Given the description of an element on the screen output the (x, y) to click on. 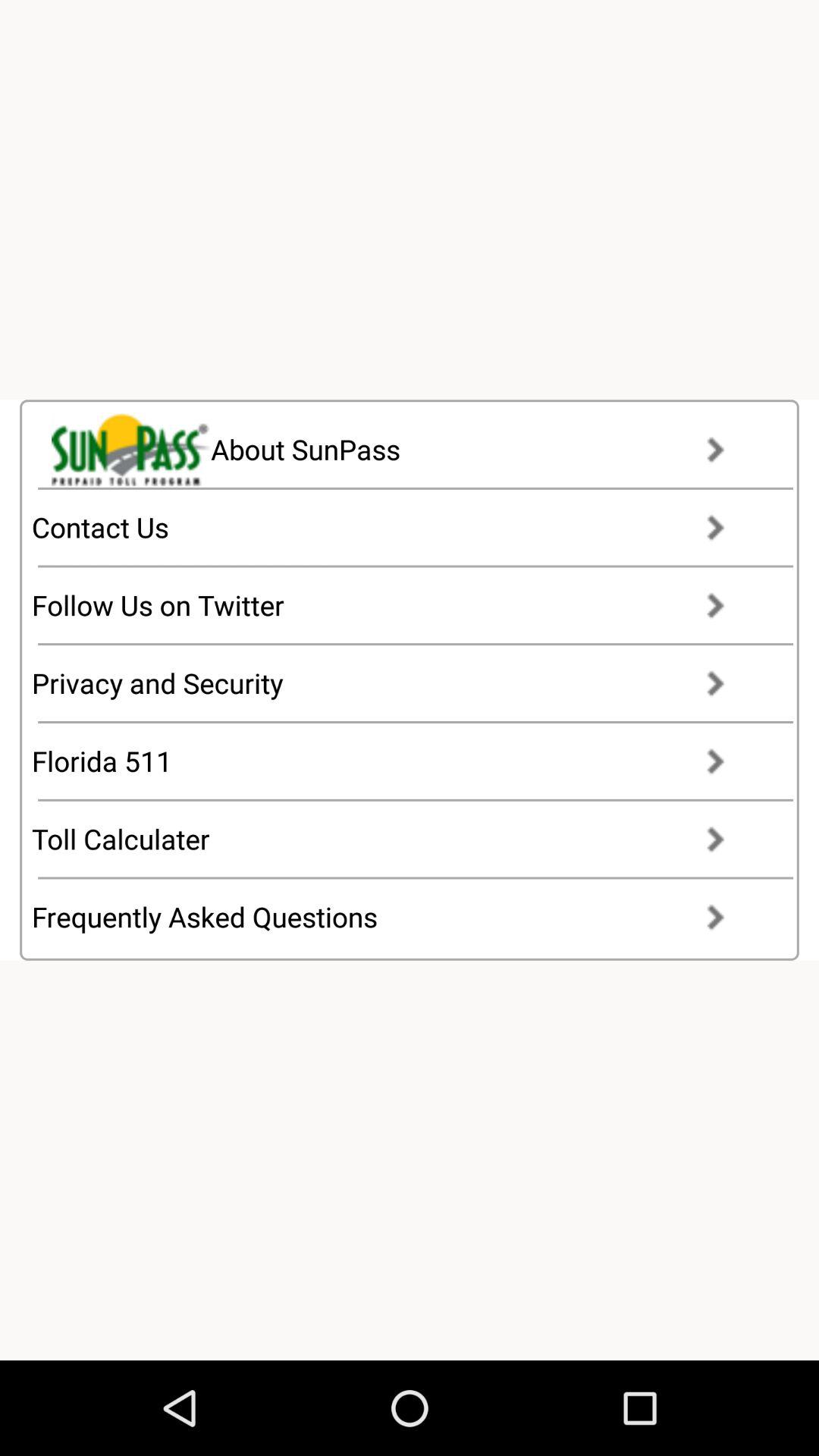
turn on item at the top (402, 449)
